Given the description of an element on the screen output the (x, y) to click on. 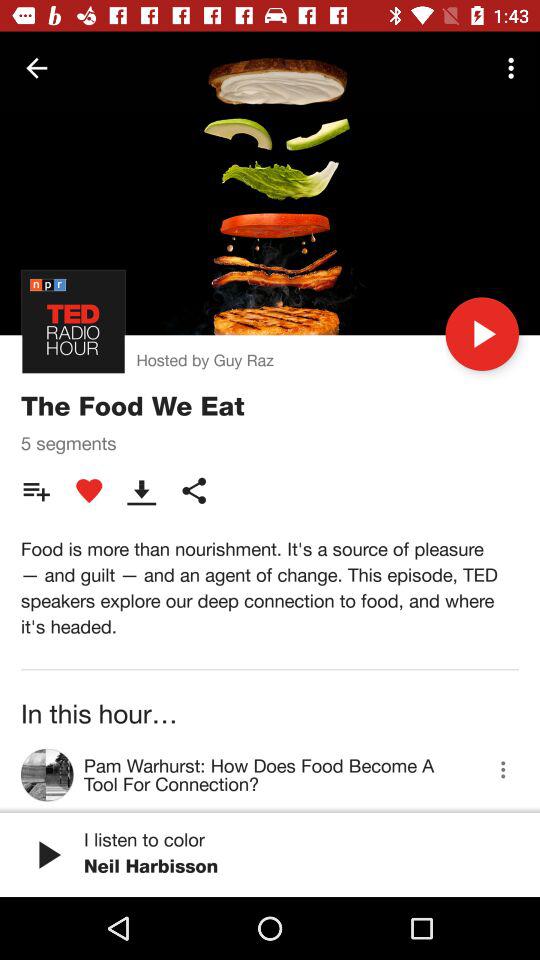
scroll to the food is more item (270, 587)
